Given the description of an element on the screen output the (x, y) to click on. 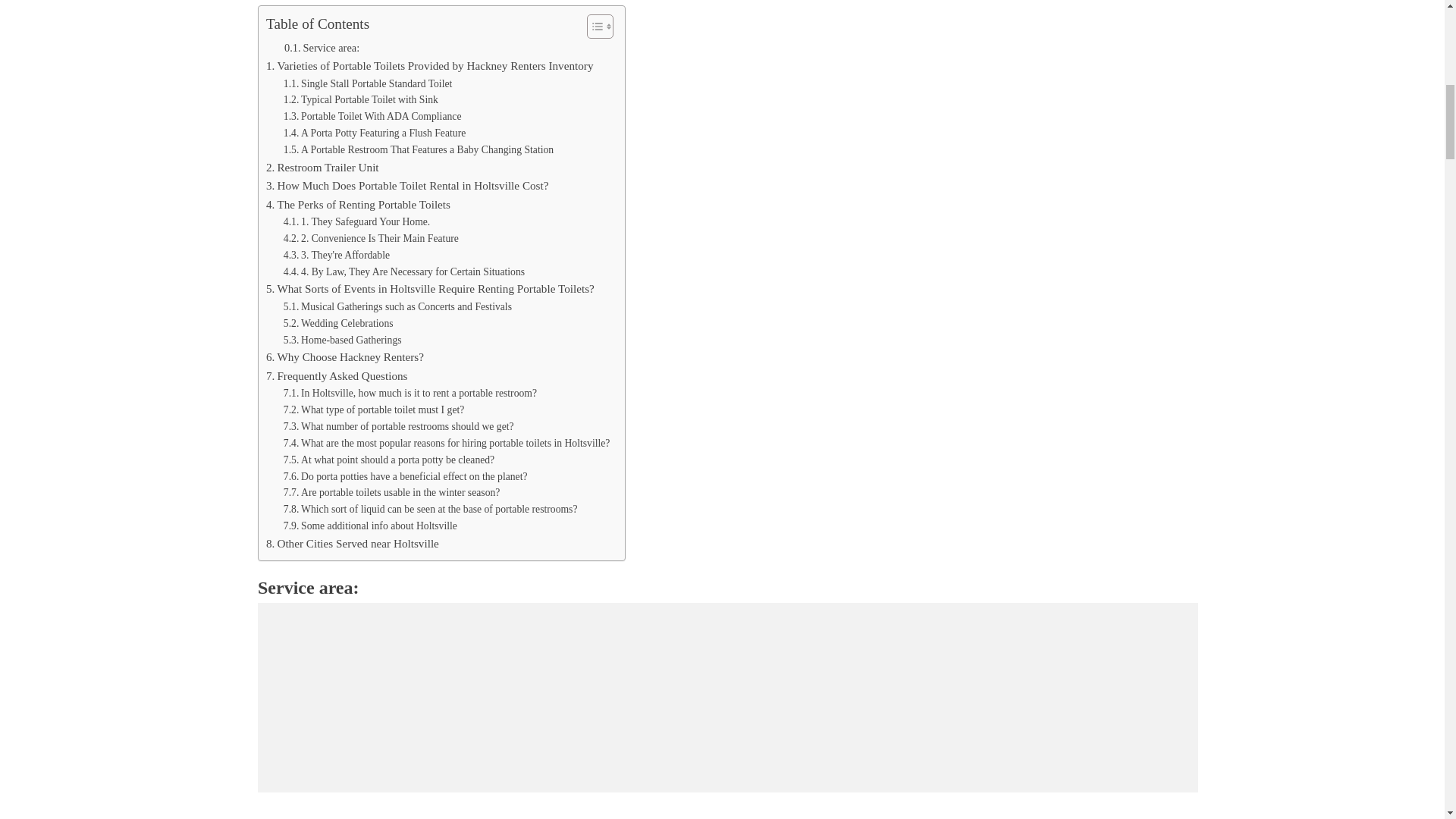
2. Convenience Is Their Main Feature (370, 238)
Typical Portable Toilet with Sink (360, 99)
1. They Safeguard Your Home. (356, 221)
1. They Safeguard Your Home. (356, 221)
Portable Toilet With ADA Compliance (372, 116)
3. They're Affordable (336, 255)
4. By Law, They Are Necessary for Certain Situations (403, 271)
A Portable Restroom That Features a Baby Changing Station (418, 149)
Service area: (321, 47)
